Given the description of an element on the screen output the (x, y) to click on. 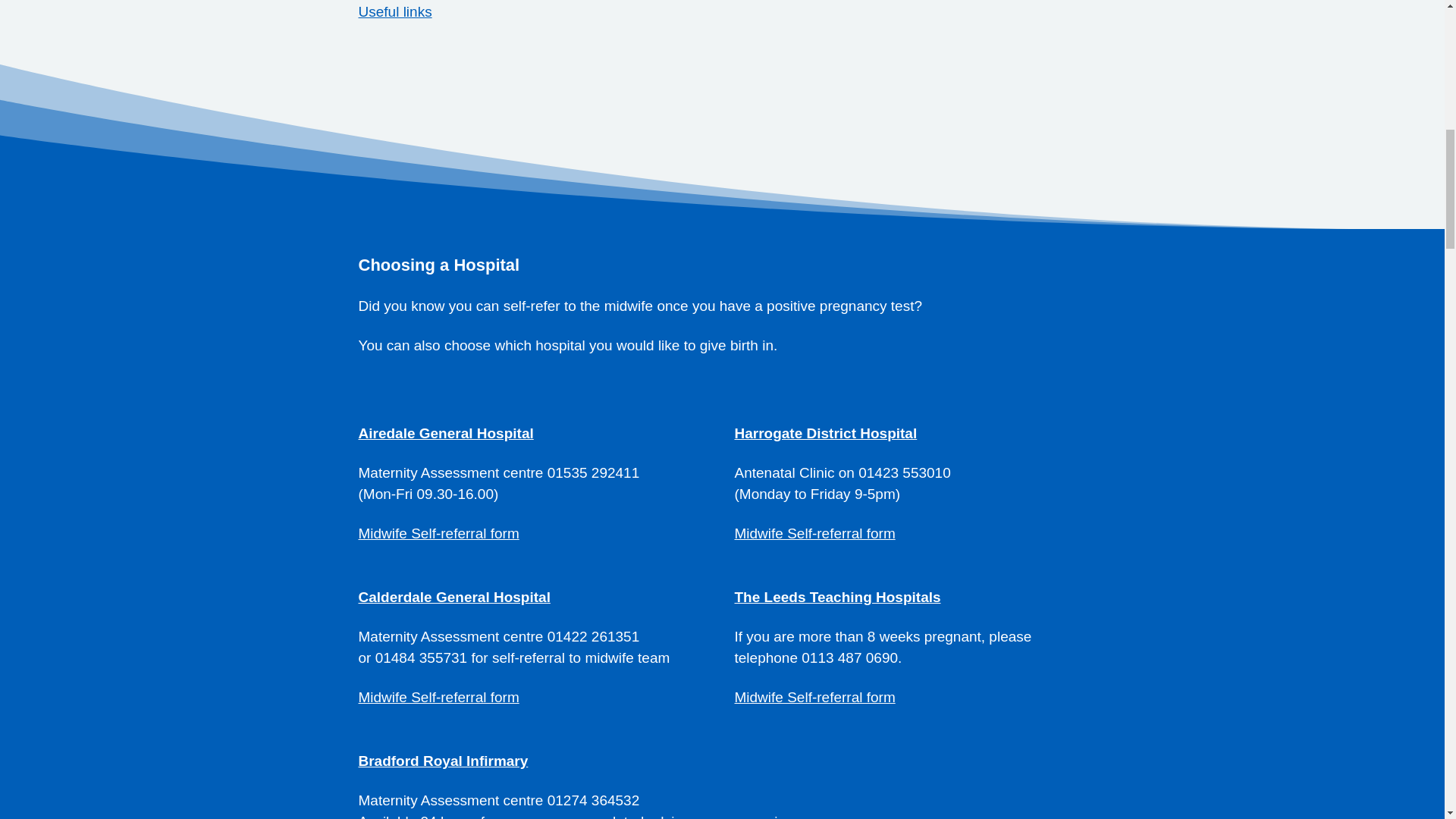
Midwife Self-referral form (814, 533)
Midwife Self-referral form (438, 697)
Midwife Self-referral form (438, 533)
Harrogate District Hospital (825, 433)
Bradford Royal Infirmary (442, 760)
Midwife Self-referral form (814, 697)
Calderdale General Hospital (454, 596)
The Leeds Teaching Hospitals (836, 596)
Airedale General Hospital (445, 433)
Useful links (394, 11)
